Given the description of an element on the screen output the (x, y) to click on. 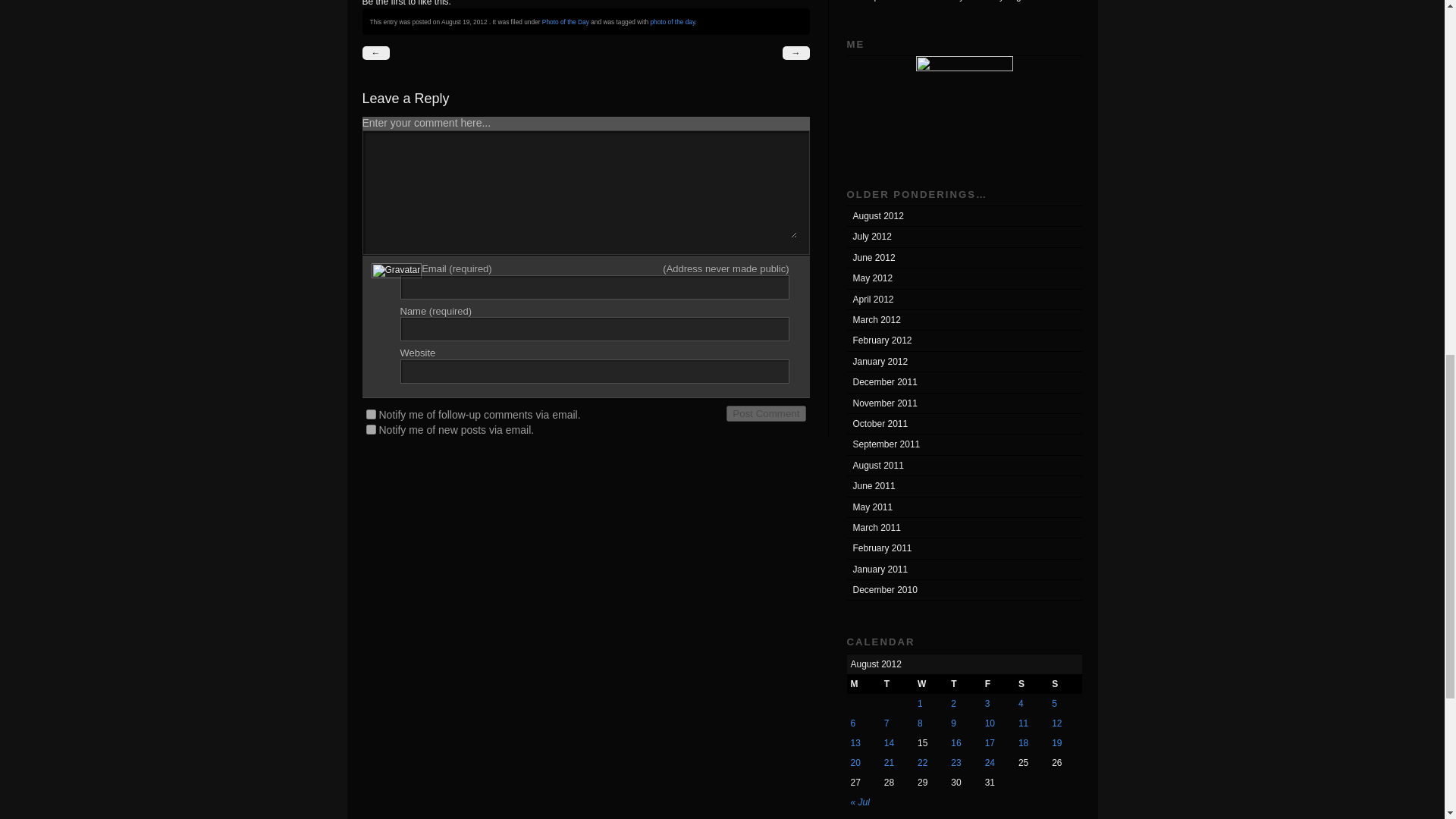
June 2012 (963, 258)
November 2011 (963, 403)
January 2012 (963, 362)
subscribe (370, 429)
February 2011 (963, 548)
August 2011 (963, 465)
March 2011 (963, 527)
View all posts in Photo of the Day (565, 21)
July 2012 (963, 236)
April 2012 (963, 299)
